Given the description of an element on the screen output the (x, y) to click on. 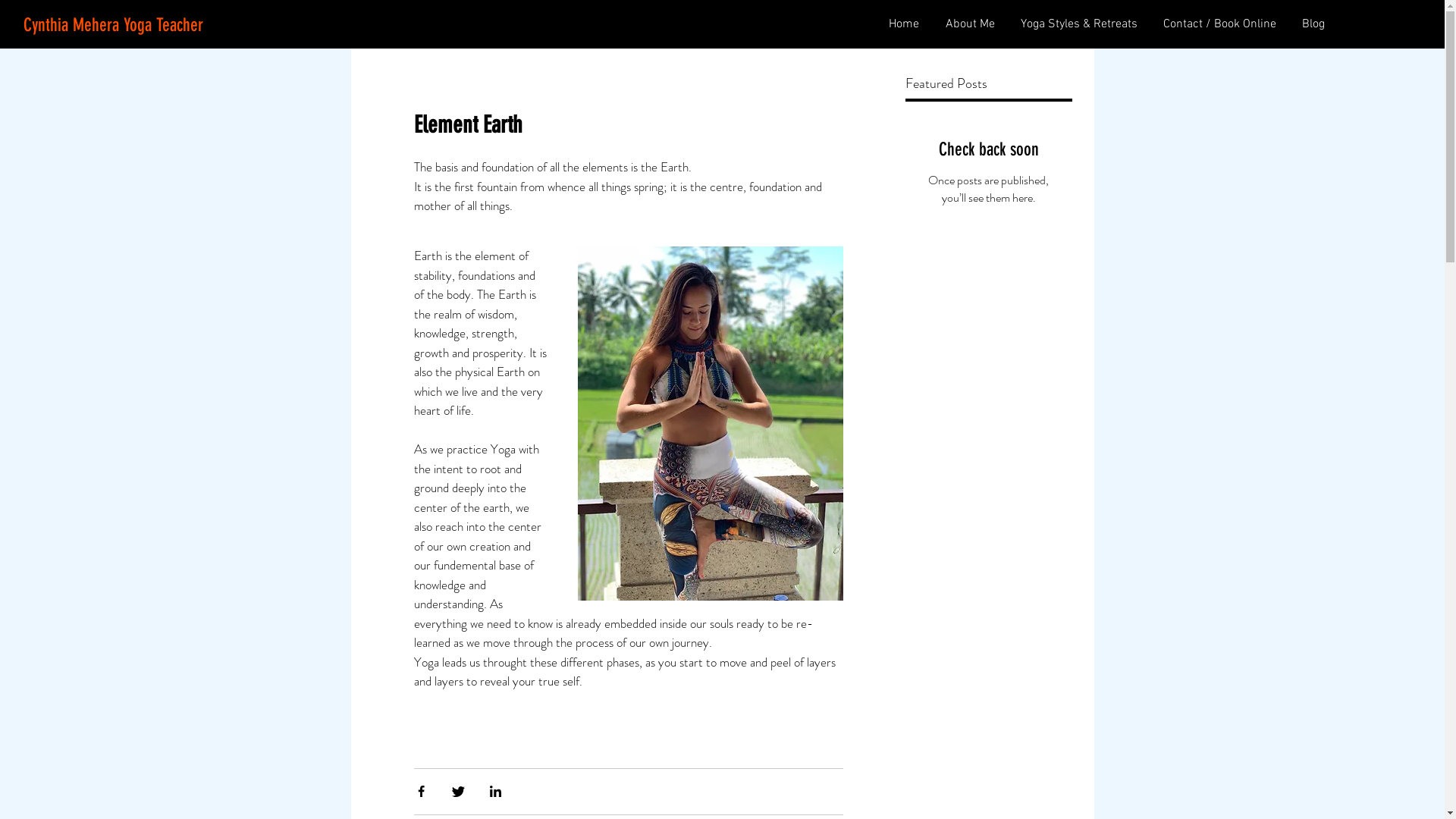
Home Element type: text (901, 24)
Yoga Styles & Retreats Element type: text (1077, 24)
Blog Element type: text (1311, 24)
Contact / Book Online Element type: text (1217, 24)
Cynthia Mehera Yoga Teacher Element type: text (113, 25)
About Me Element type: text (968, 24)
